Given the description of an element on the screen output the (x, y) to click on. 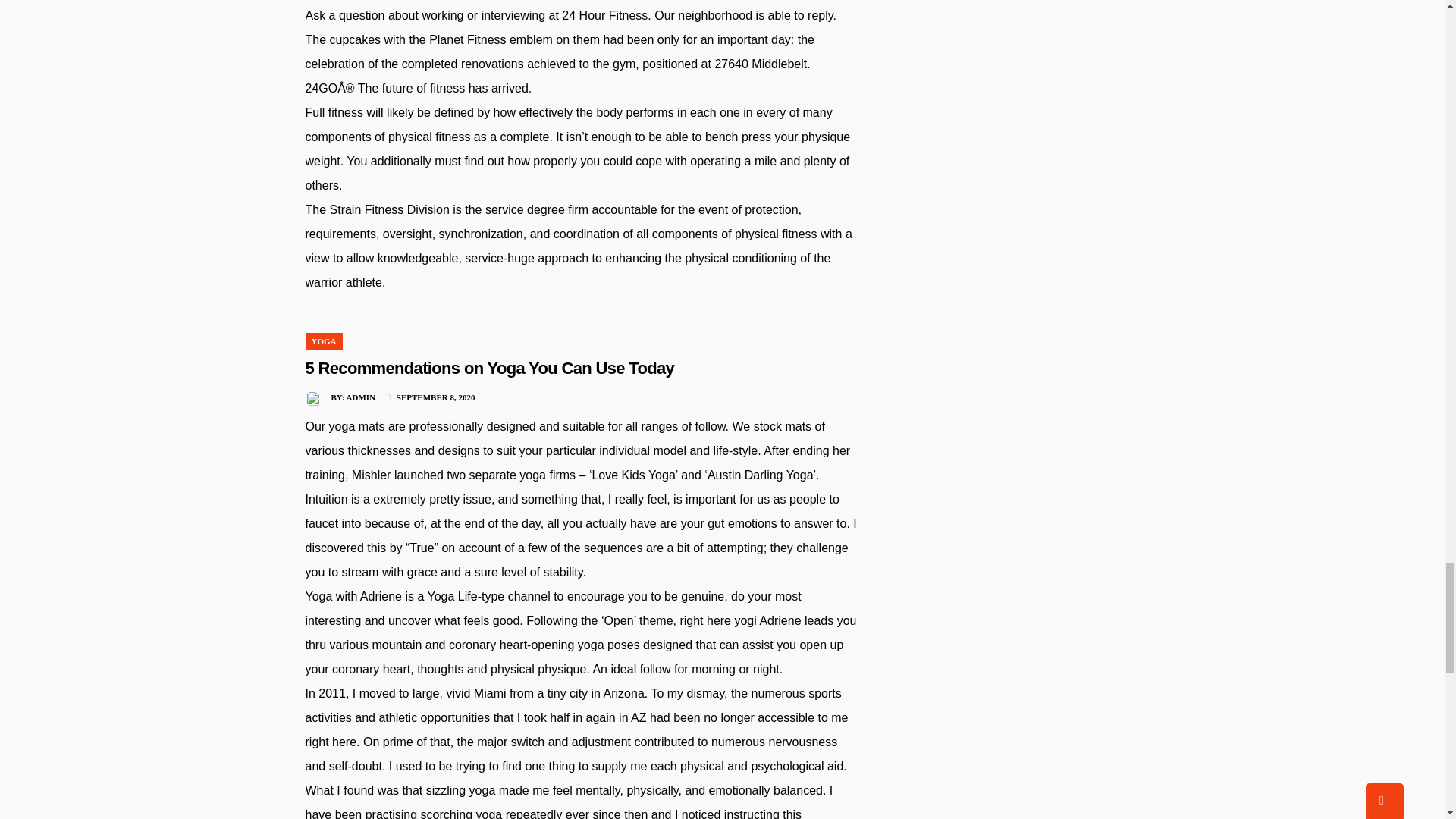
YOGA (323, 340)
5 Recommendations on Yoga You Can Use Today (489, 367)
Posts by admin (360, 397)
ADMIN (360, 397)
